Given the description of an element on the screen output the (x, y) to click on. 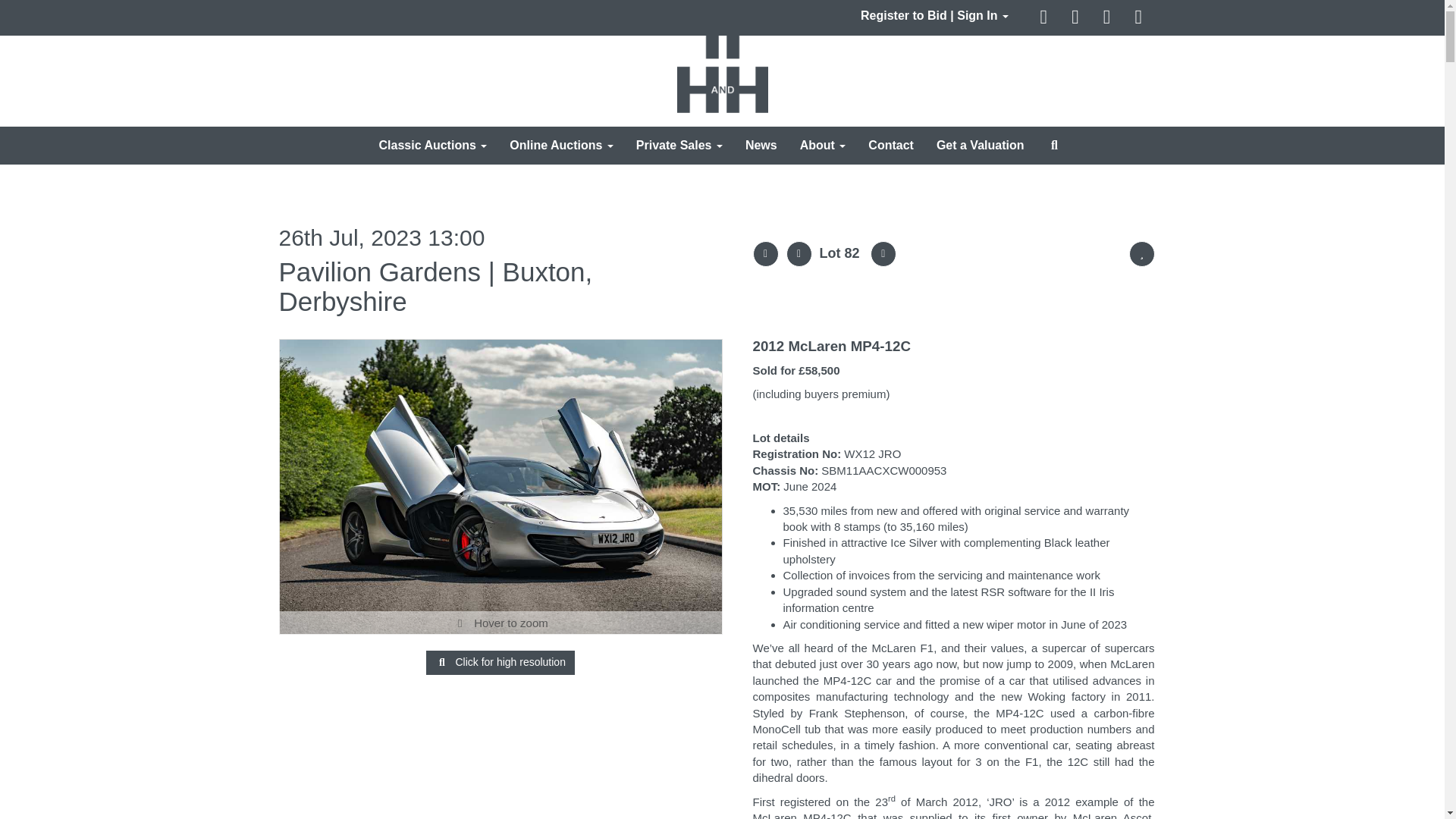
Go to our youtube page (1108, 19)
Online Auctions (560, 145)
Click for high resolution (500, 486)
News (761, 145)
Private Sales (678, 145)
Next lot (883, 253)
Previous lot (798, 253)
Go to our facebook page (1044, 19)
About (823, 145)
Add to wishlist (1141, 253)
